Given the description of an element on the screen output the (x, y) to click on. 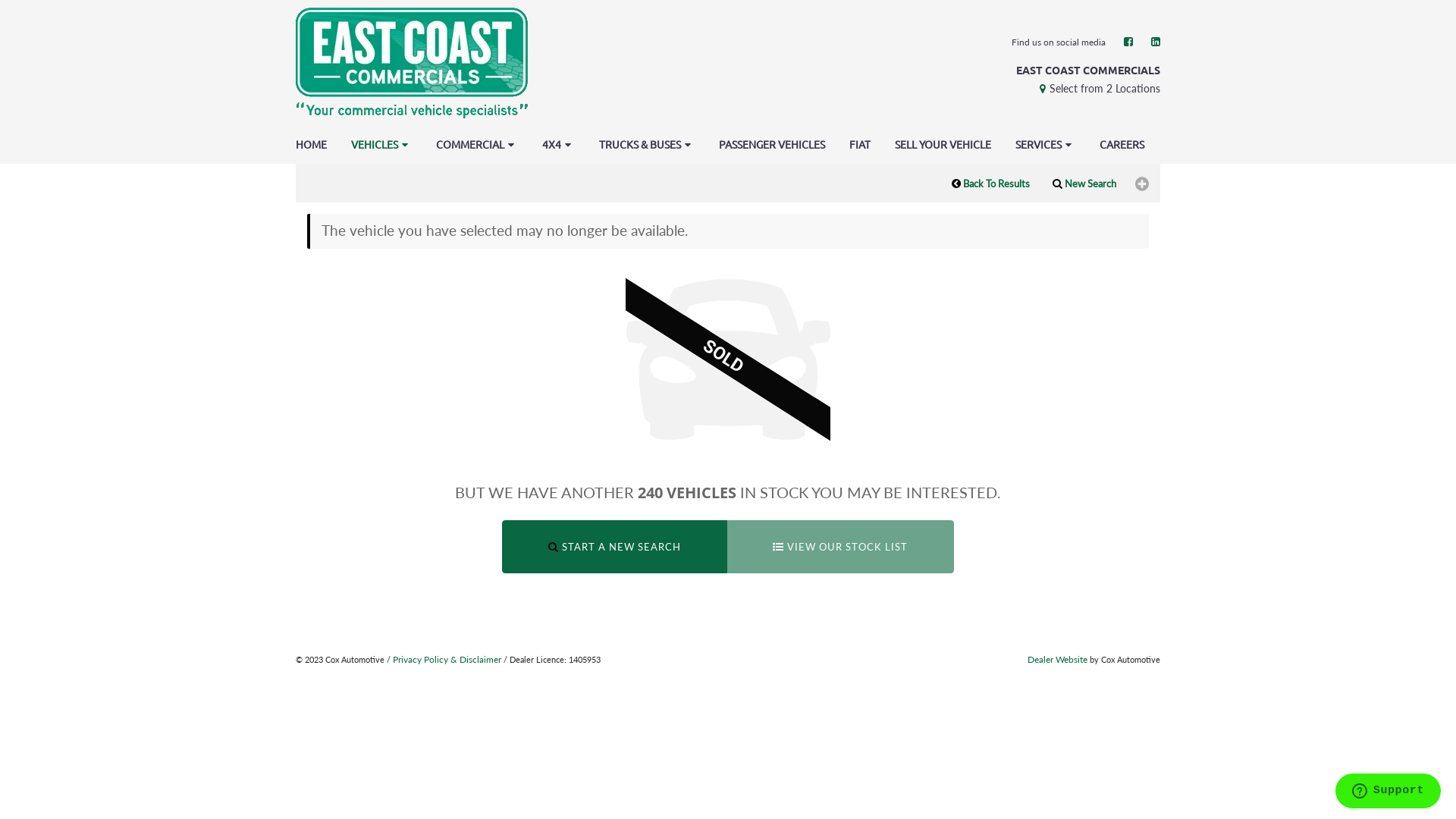
4X4 Element type: text (558, 143)
New Search Element type: text (1084, 183)
Dealer Website Element type: text (1057, 659)
Facebook Element type: hover (1127, 41)
TRUCKS & BUSES Element type: text (646, 143)
FIAT Element type: text (859, 143)
LinkedIn Element type: hover (1155, 41)
Opens a widget where you can chat to one of our agents Element type: hover (1387, 792)
PASSENGER VEHICLES Element type: text (771, 143)
Select from 2 Locations Element type: text (1097, 87)
SERVICES Element type: text (1045, 143)
VEHICLES Element type: text (380, 143)
Back To Results Element type: text (990, 183)
VIEW OUR STOCK LIST Element type: text (839, 547)
CAREERS Element type: text (1121, 143)
Privacy Policy & Disclaimer Element type: text (446, 659)
COMMERCIAL Element type: text (476, 143)
START A NEW SEARCH Element type: text (614, 547)
HOME Element type: text (309, 143)
SELL YOUR VEHICLE Element type: text (942, 143)
